Given the description of an element on the screen output the (x, y) to click on. 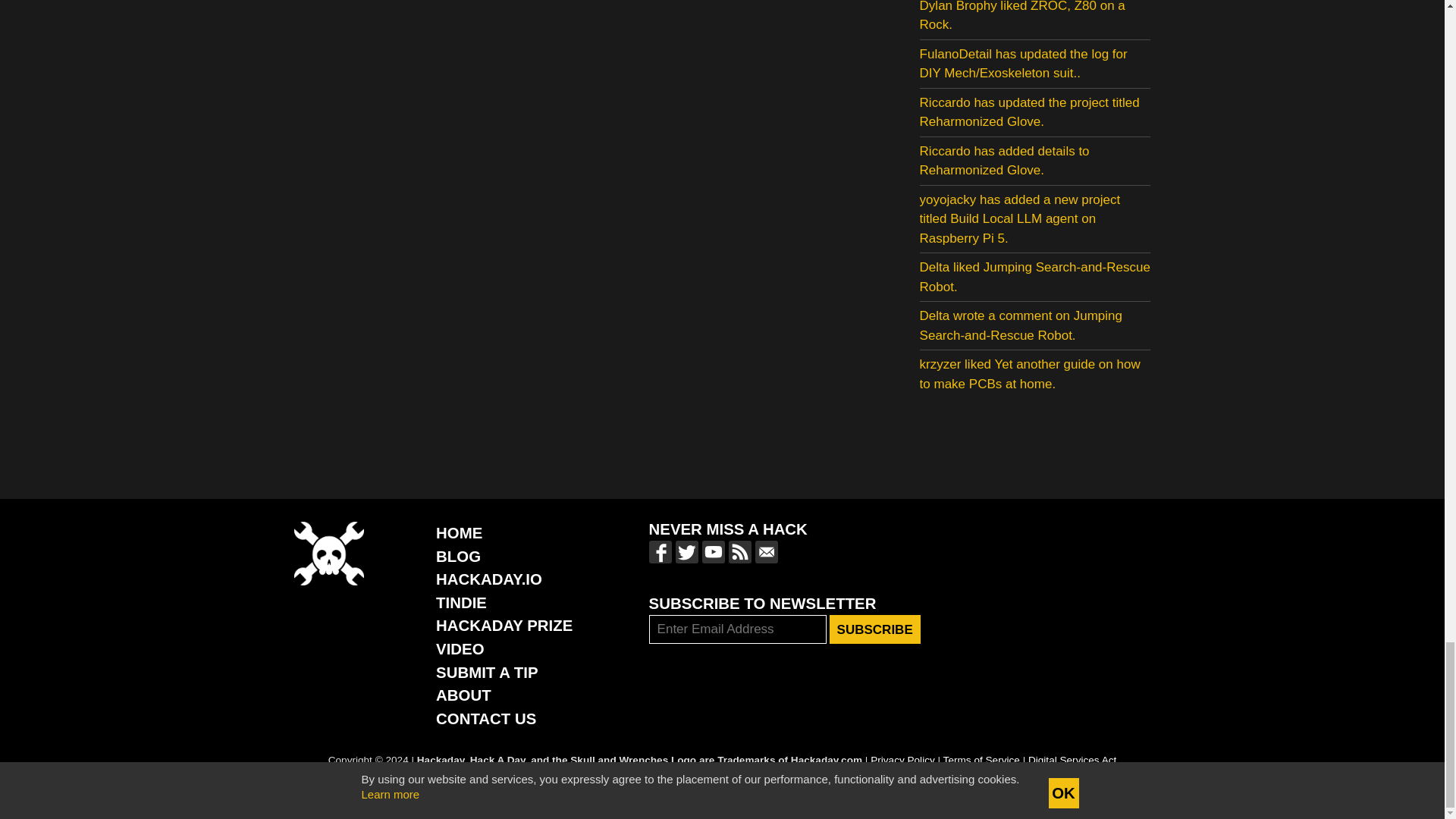
Build Something that Matters (503, 625)
Subscribe (874, 629)
